Given the description of an element on the screen output the (x, y) to click on. 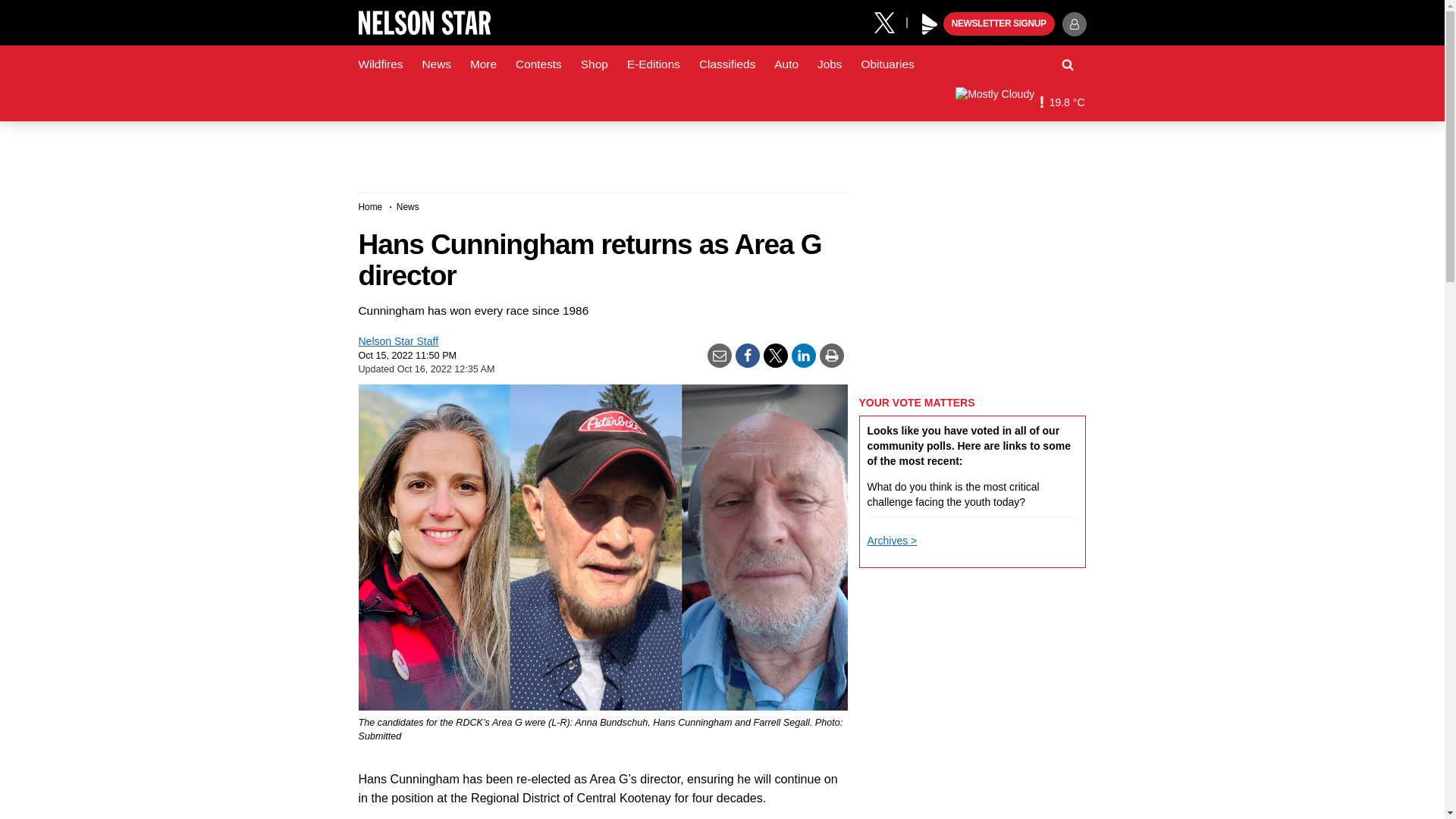
Black Press Media (929, 24)
Wildfires (380, 64)
NEWSLETTER SIGNUP (998, 24)
Play (929, 24)
X (889, 21)
News (435, 64)
